Given the description of an element on the screen output the (x, y) to click on. 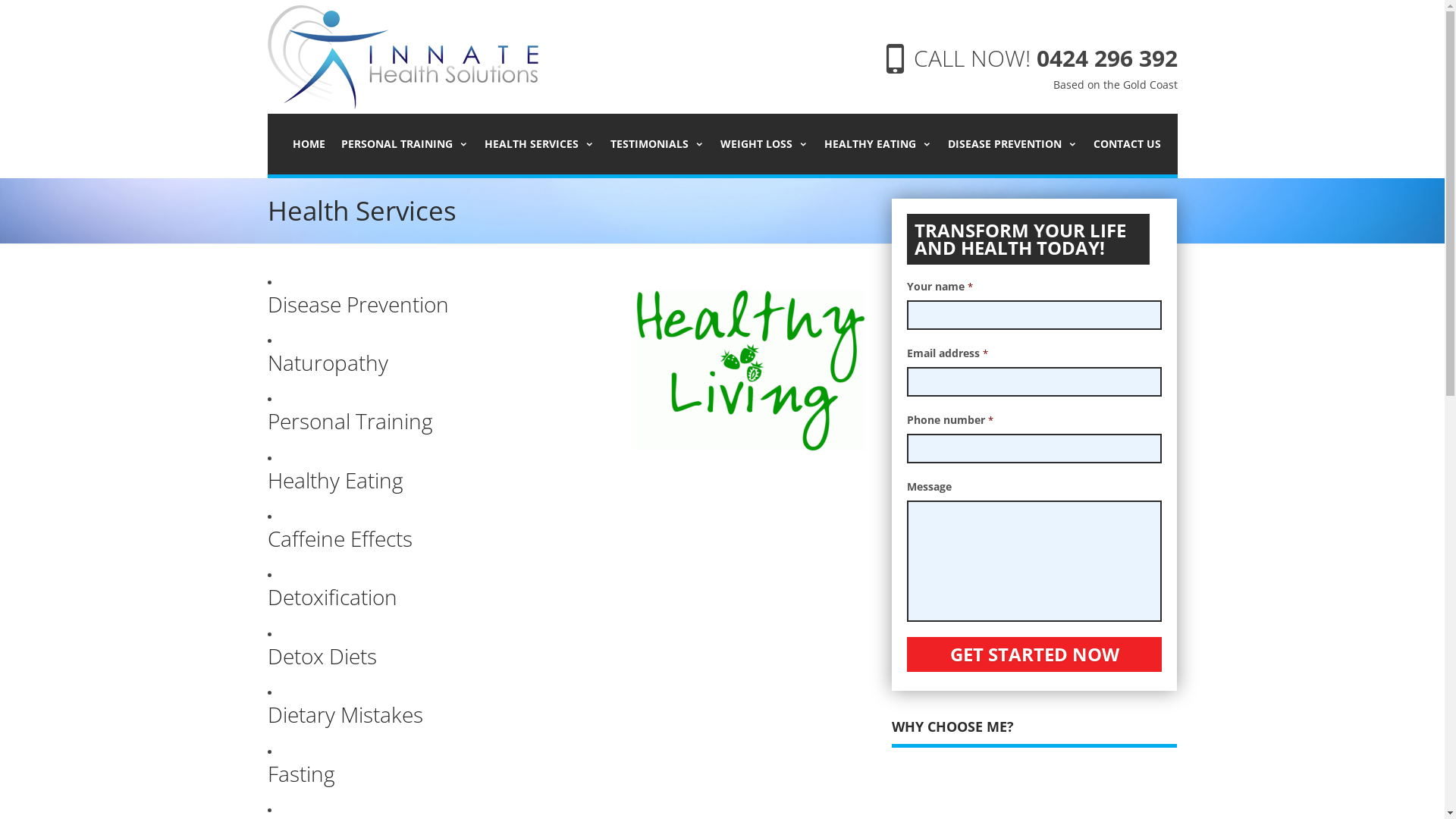
Get Started Now Element type: text (1033, 654)
PERSONAL TRAINING Element type: text (404, 143)
HOME Element type: text (308, 143)
Healthy Eating Element type: text (334, 479)
Caffeine Effects Element type: text (338, 538)
HEALTHY EATING Element type: text (877, 143)
Naturopathy Element type: text (326, 362)
HEALTH SERVICES Element type: text (538, 143)
CONTACT US Element type: text (1127, 143)
DISEASE PREVENTION Element type: text (1012, 143)
TESTIMONIALS Element type: text (656, 143)
Personal Training Element type: text (349, 420)
Disease Prevention Element type: text (357, 303)
Detoxification Element type: text (331, 596)
Fasting Element type: text (300, 773)
Dietary Mistakes Element type: text (344, 713)
WEIGHT LOSS Element type: text (764, 143)
Detox Diets Element type: text (321, 655)
CALL NOW!
0424 296 392 Element type: text (1044, 57)
